Given the description of an element on the screen output the (x, y) to click on. 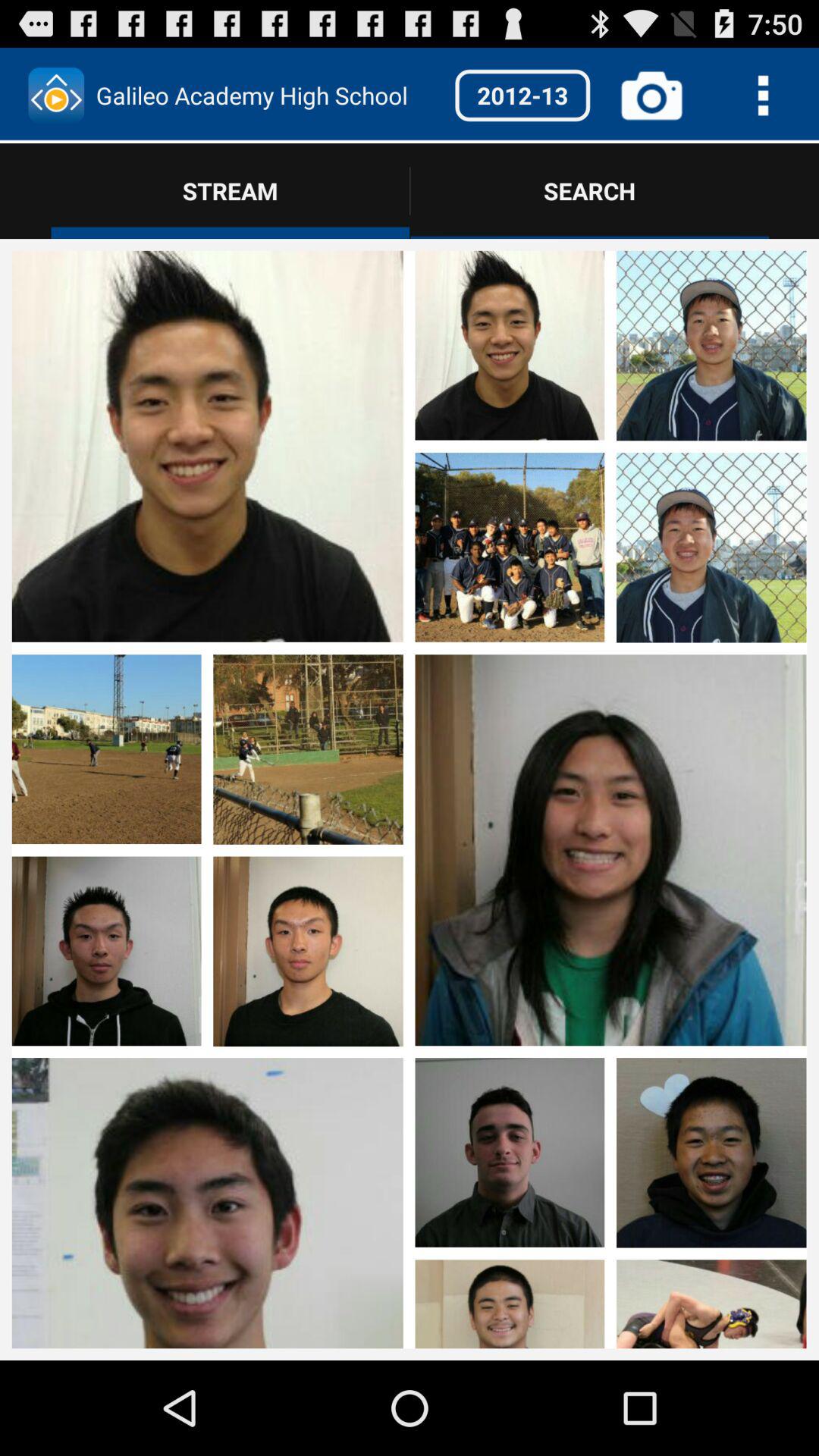
merge box (610, 1199)
